Given the description of an element on the screen output the (x, y) to click on. 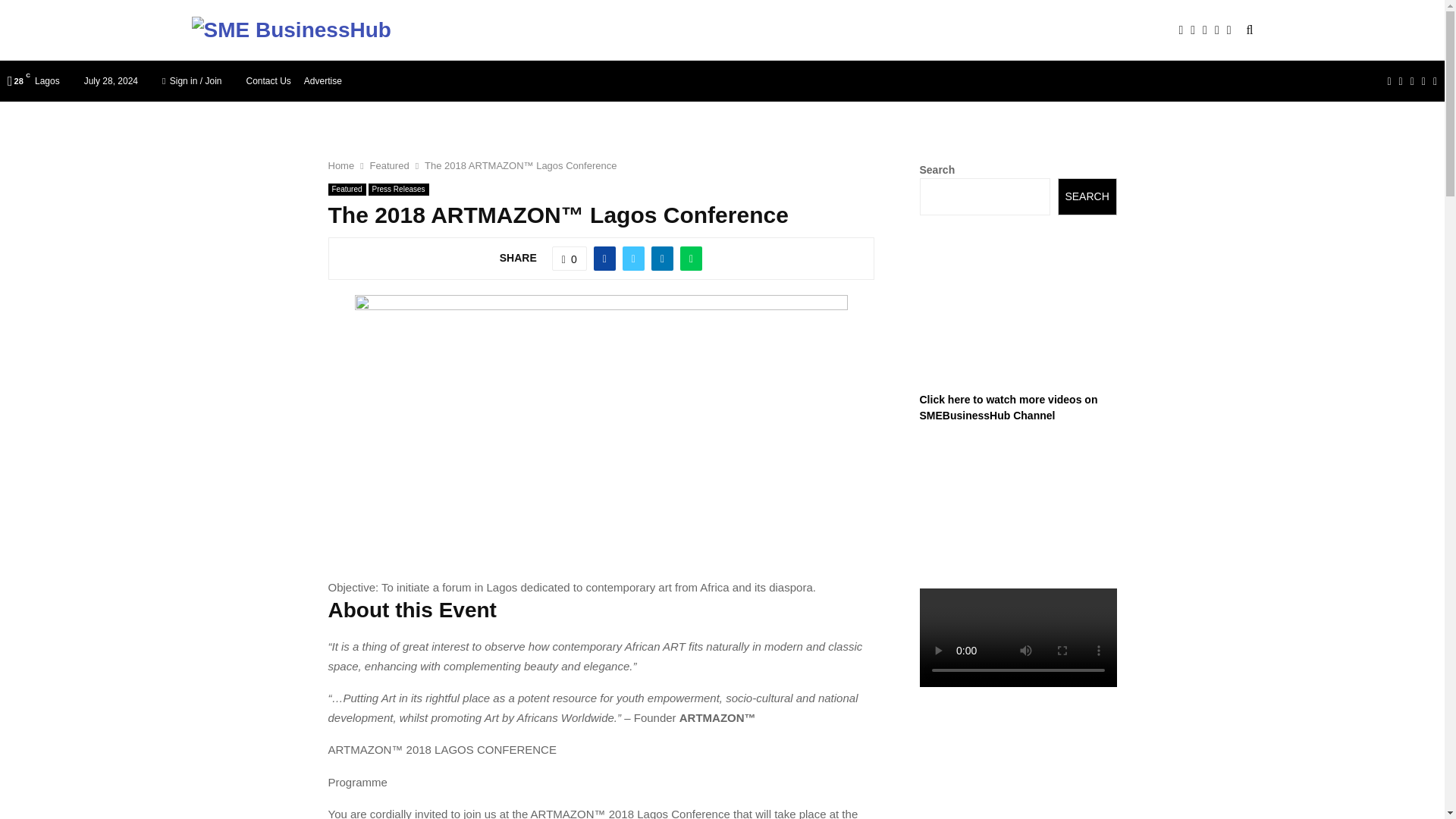
Home (340, 165)
Sign up new account (722, 447)
Featured (346, 189)
DIRECTORY (610, 30)
NIGERIA GUIDE (516, 30)
Advertise (323, 80)
0 (568, 258)
Like (568, 258)
Login to your account (722, 328)
Featured (389, 165)
Press Releases (398, 189)
Contact Us (267, 80)
